Given the description of an element on the screen output the (x, y) to click on. 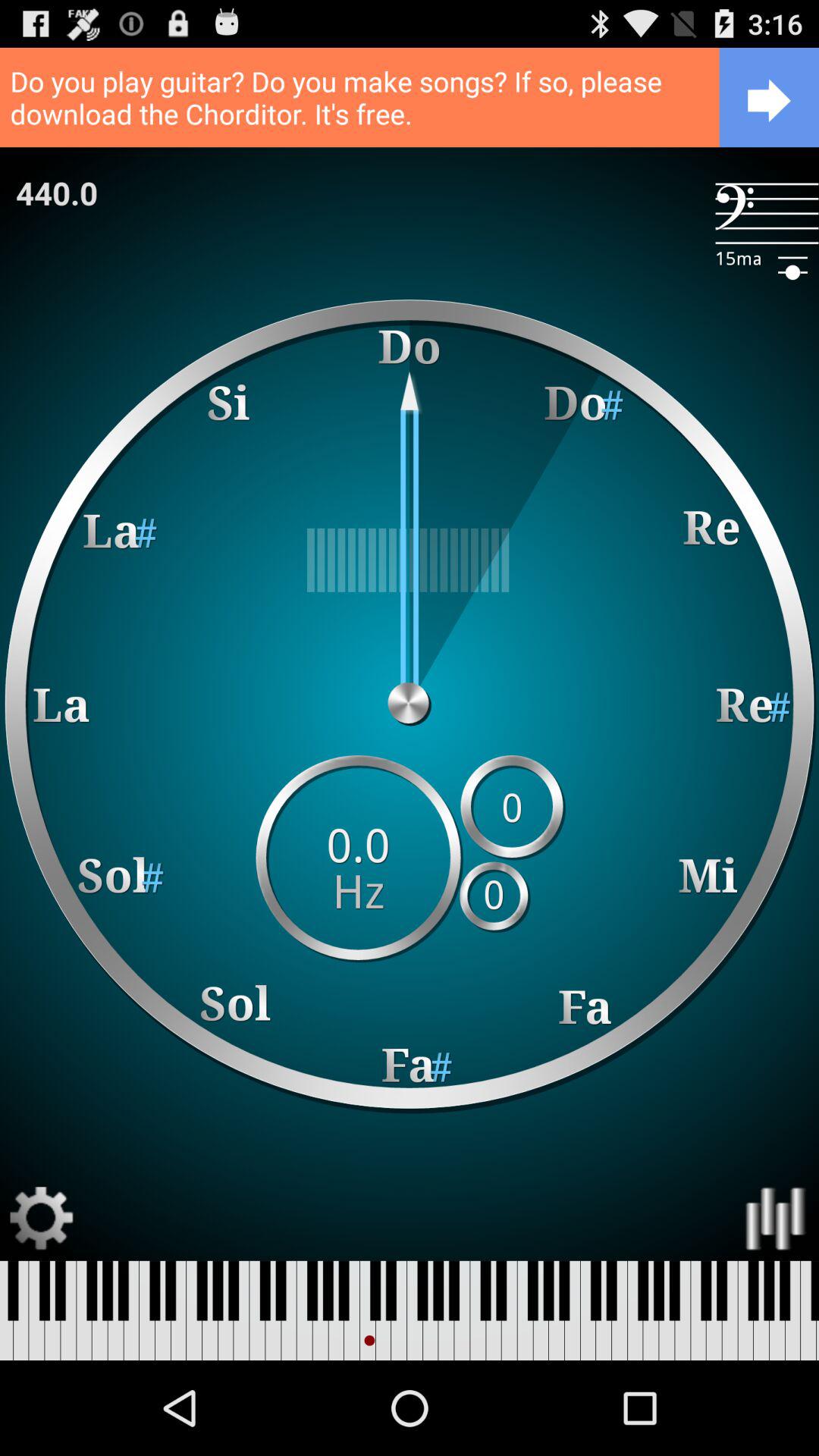
settings (42, 1218)
